Given the description of an element on the screen output the (x, y) to click on. 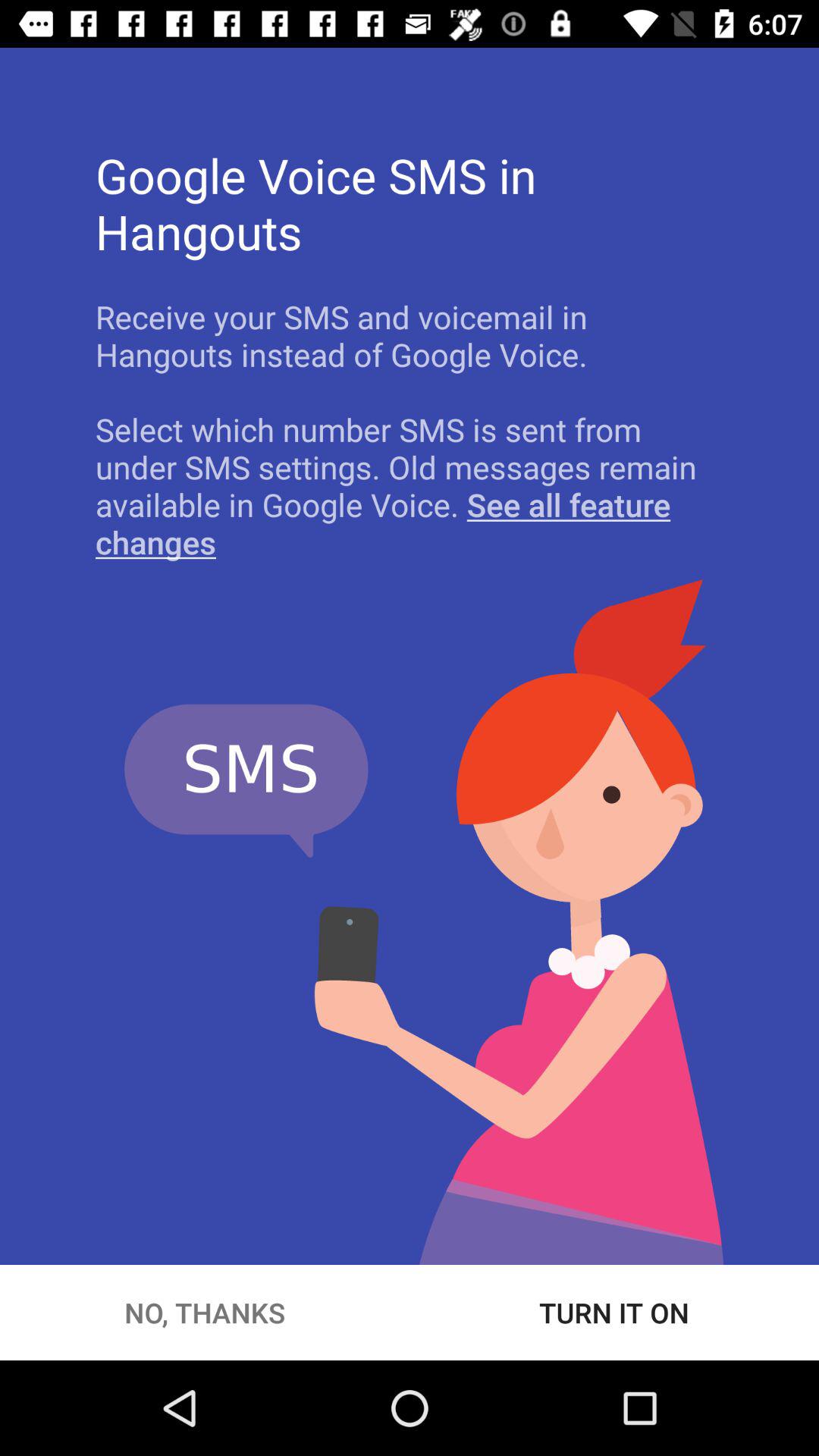
open the item at the bottom left corner (204, 1312)
